Given the description of an element on the screen output the (x, y) to click on. 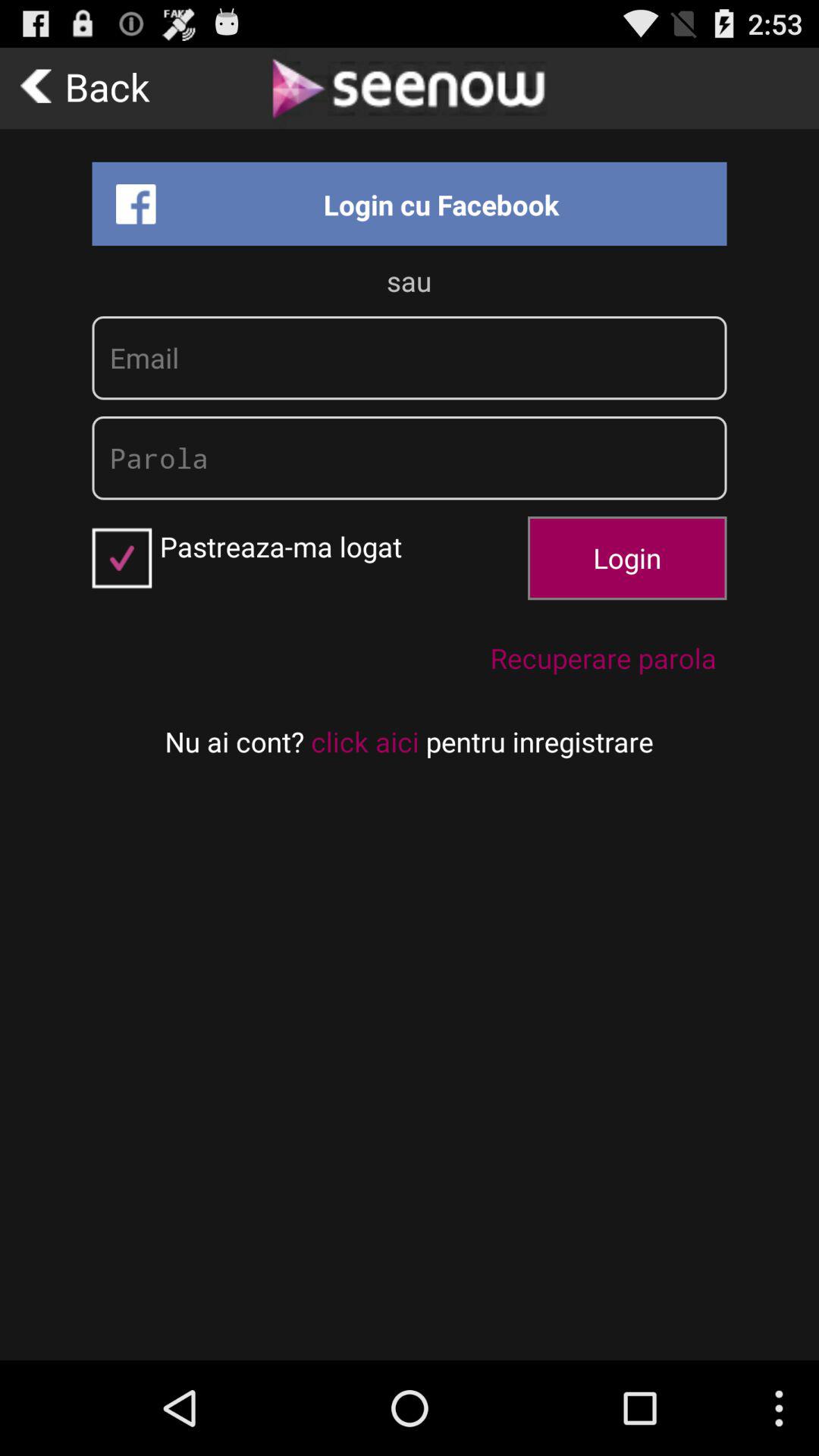
input password (409, 457)
